Given the description of an element on the screen output the (x, y) to click on. 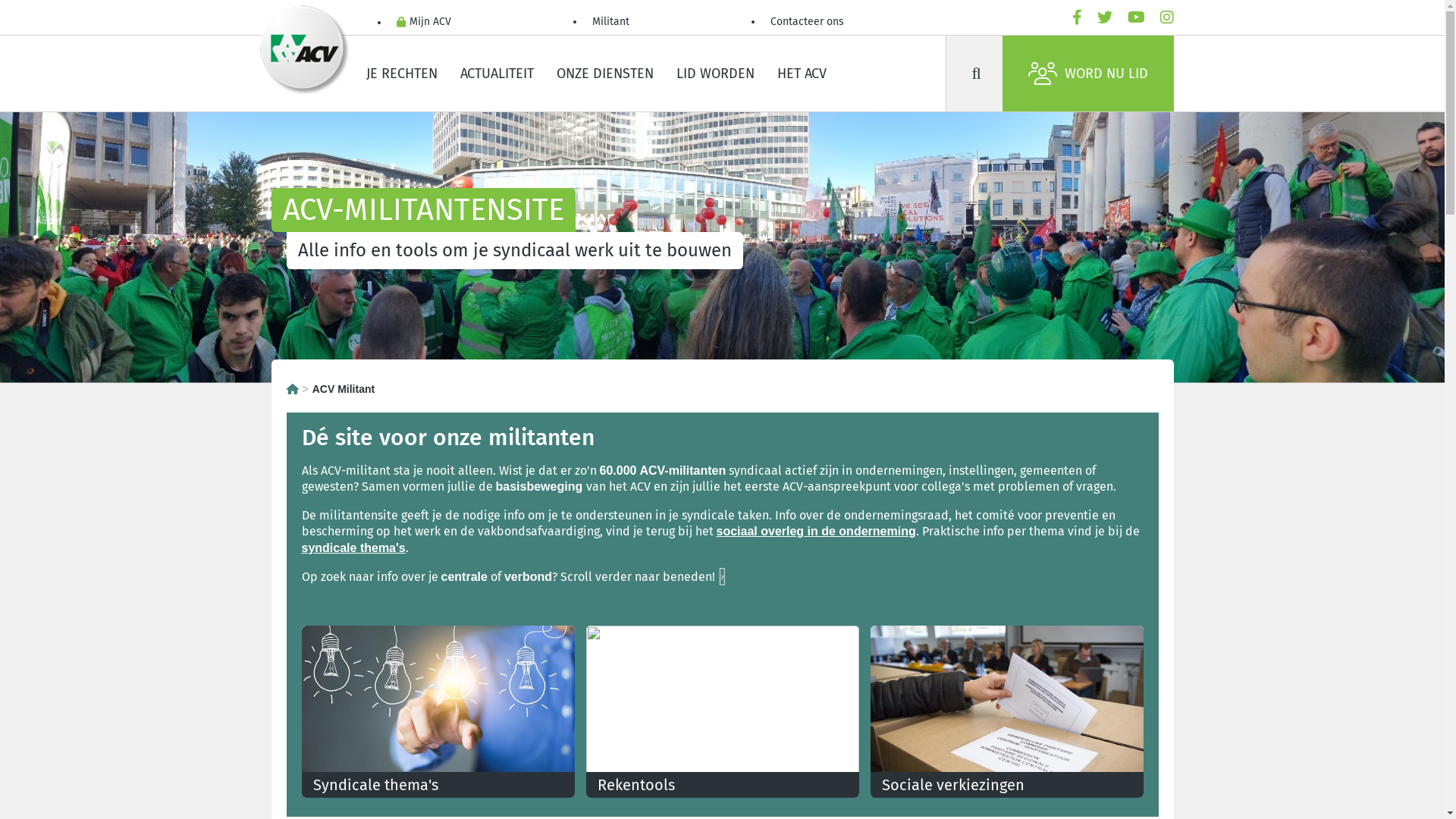
ACTUALITEIT Element type: text (496, 73)
HET ACV Element type: text (801, 73)
WORD NU LID Element type: text (1087, 73)
syndicale thema's Element type: text (353, 547)
Sociale verkiezingen Element type: text (1006, 711)
JE RECHTEN Element type: text (401, 73)
Contacteer ons Element type: text (806, 22)
Rekentools Element type: text (721, 711)
Mijn ACV Element type: text (423, 22)
Syndicale thema's Element type: text (437, 711)
ONZE DIENSTEN Element type: text (604, 73)
ACV-RGB-165px-tcm183-358090 Element type: hover (304, 50)
sociaal overleg in de onderneming Element type: text (815, 531)
LID WORDEN Element type: text (714, 73)
Militant Element type: text (609, 22)
